Given the description of an element on the screen output the (x, y) to click on. 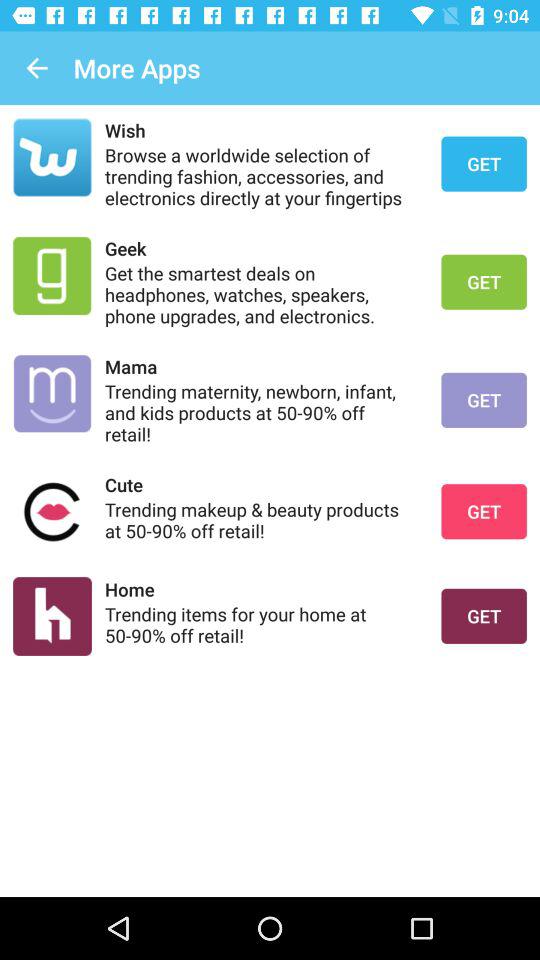
turn on trending items for item (260, 624)
